Given the description of an element on the screen output the (x, y) to click on. 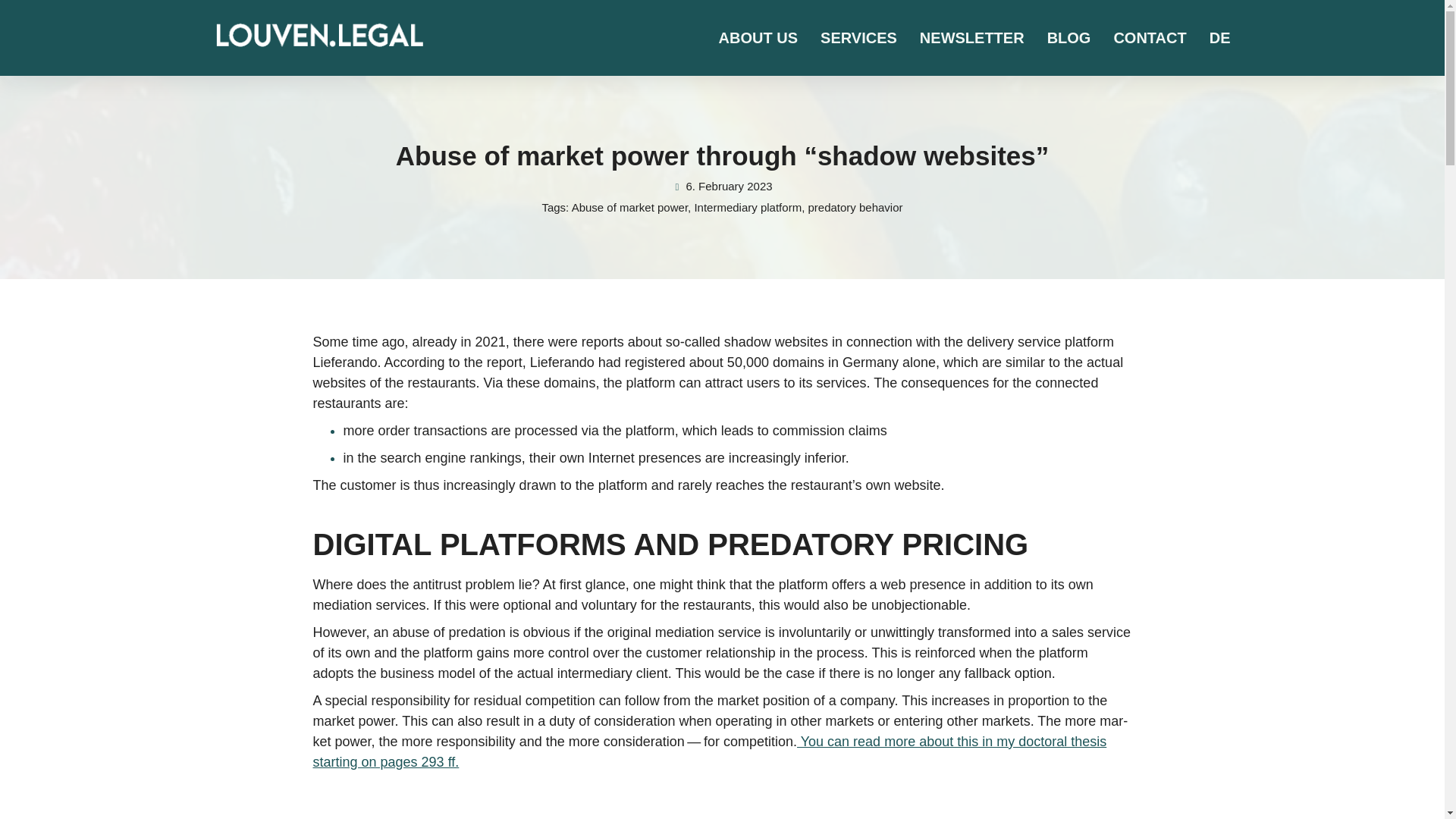
NEWSLETTER (972, 37)
ABOUT US (758, 37)
BLOG (1068, 37)
CONTACT (1149, 37)
Intermediary platform (748, 206)
Abuse of market power (629, 206)
predatory behavior (855, 206)
SERVICES (858, 37)
